Given the description of an element on the screen output the (x, y) to click on. 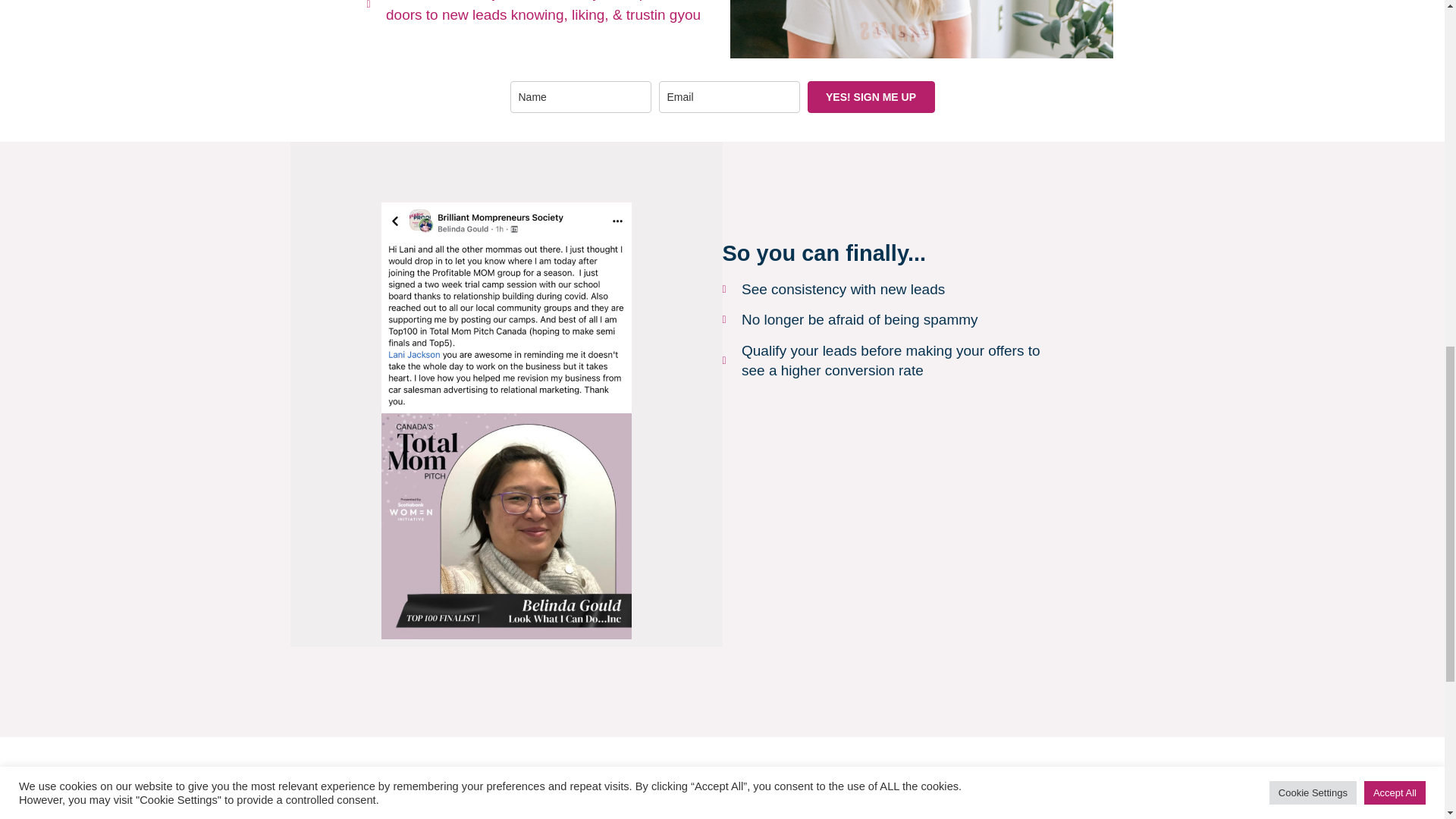
YES! SIGN ME UP (870, 97)
